Given the description of an element on the screen output the (x, y) to click on. 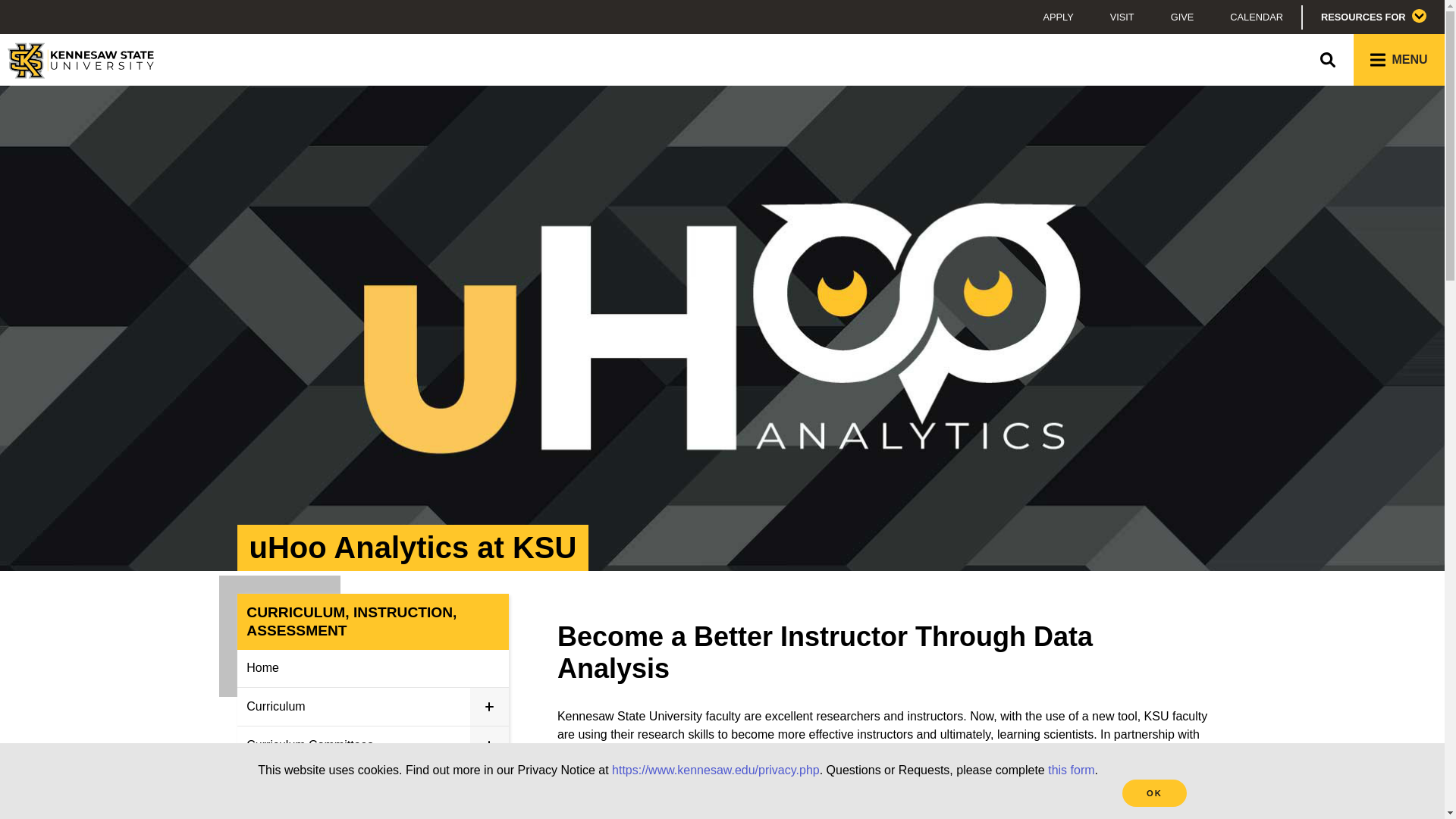
GIVE (1182, 17)
VISIT (1122, 17)
APPLY (1057, 17)
CALENDAR (1256, 17)
